Given the description of an element on the screen output the (x, y) to click on. 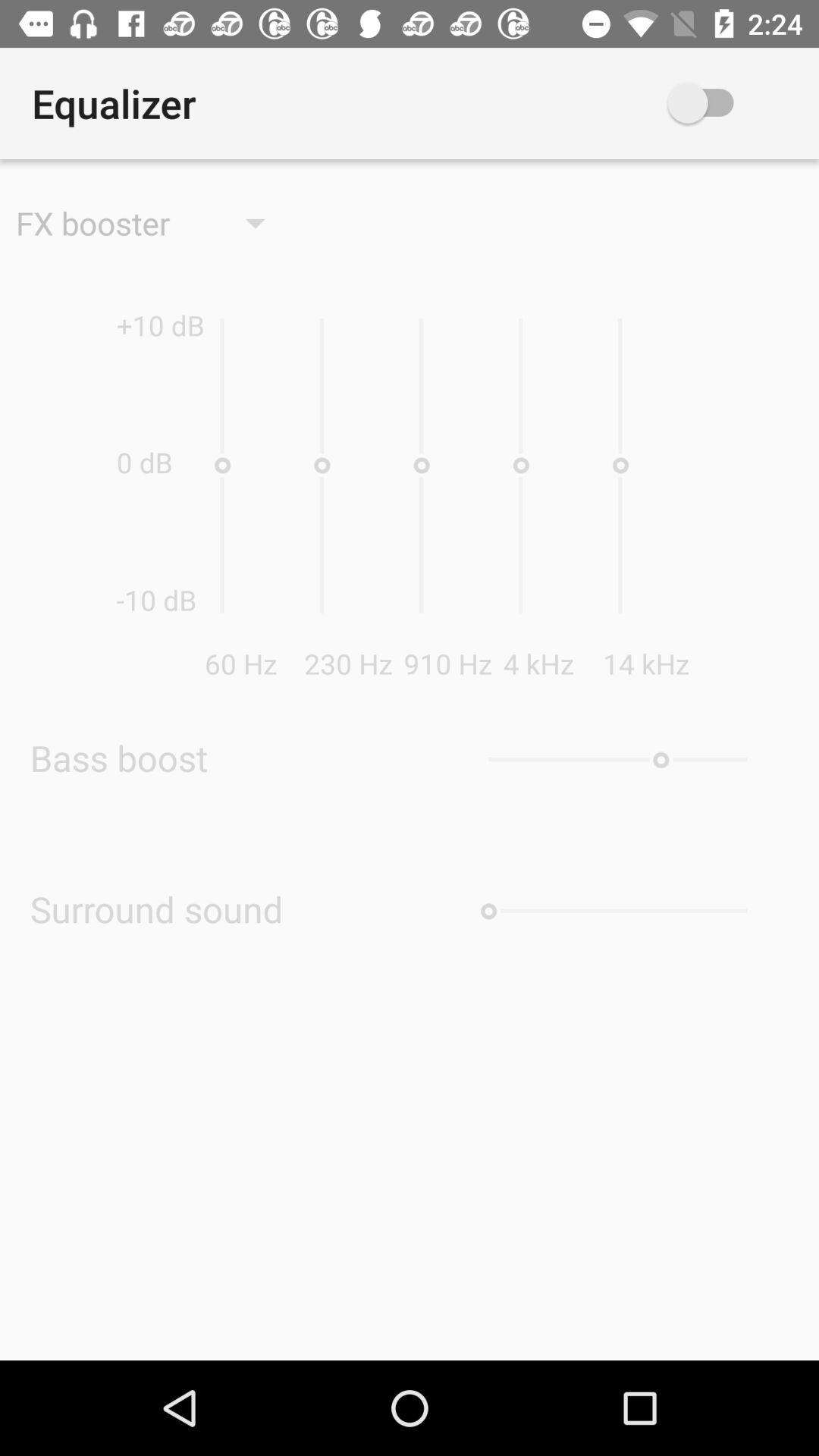
click app to the right of equalizer icon (723, 103)
